Given the description of an element on the screen output the (x, y) to click on. 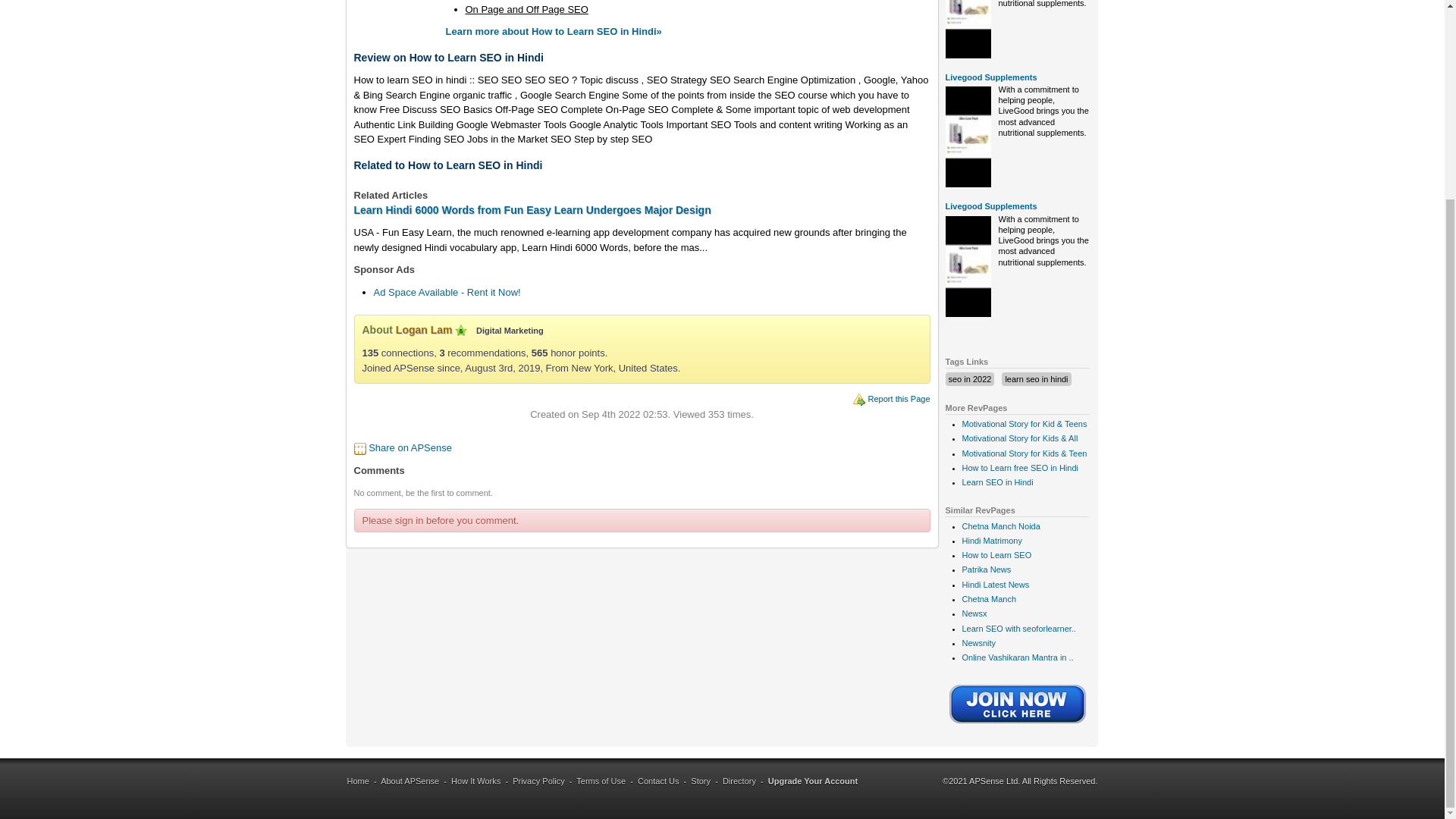
Report this Page (898, 398)
Share on APSense (409, 447)
Ad Space Available - Rent it Now! (445, 292)
Livegood Supplements (990, 205)
Join APSense Social Network (1017, 724)
Livegood Supplements (990, 76)
Share on APSense (409, 447)
Logan Lam (424, 329)
Senior (460, 330)
